Given the description of an element on the screen output the (x, y) to click on. 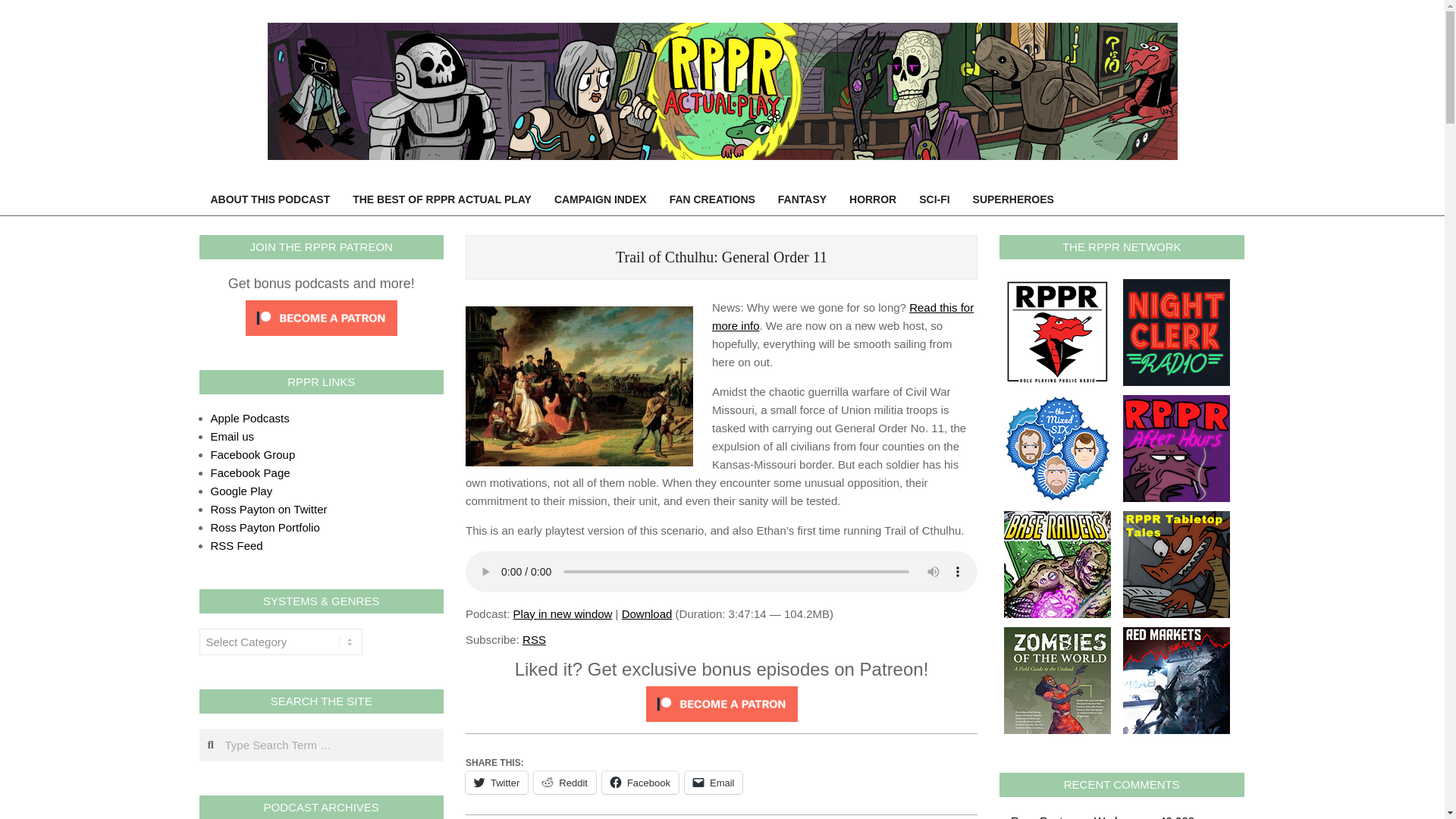
FANTASY (802, 199)
SCI-FI (933, 199)
THE BEST OF RPPR ACTUAL PLAY (441, 199)
Play in new window (562, 613)
Facebook (640, 782)
Read this for more info (842, 316)
Click to share on Twitter (496, 782)
CAMPAIGN INDEX (600, 199)
Play in new window (562, 613)
Reddit (564, 782)
